Given the description of an element on the screen output the (x, y) to click on. 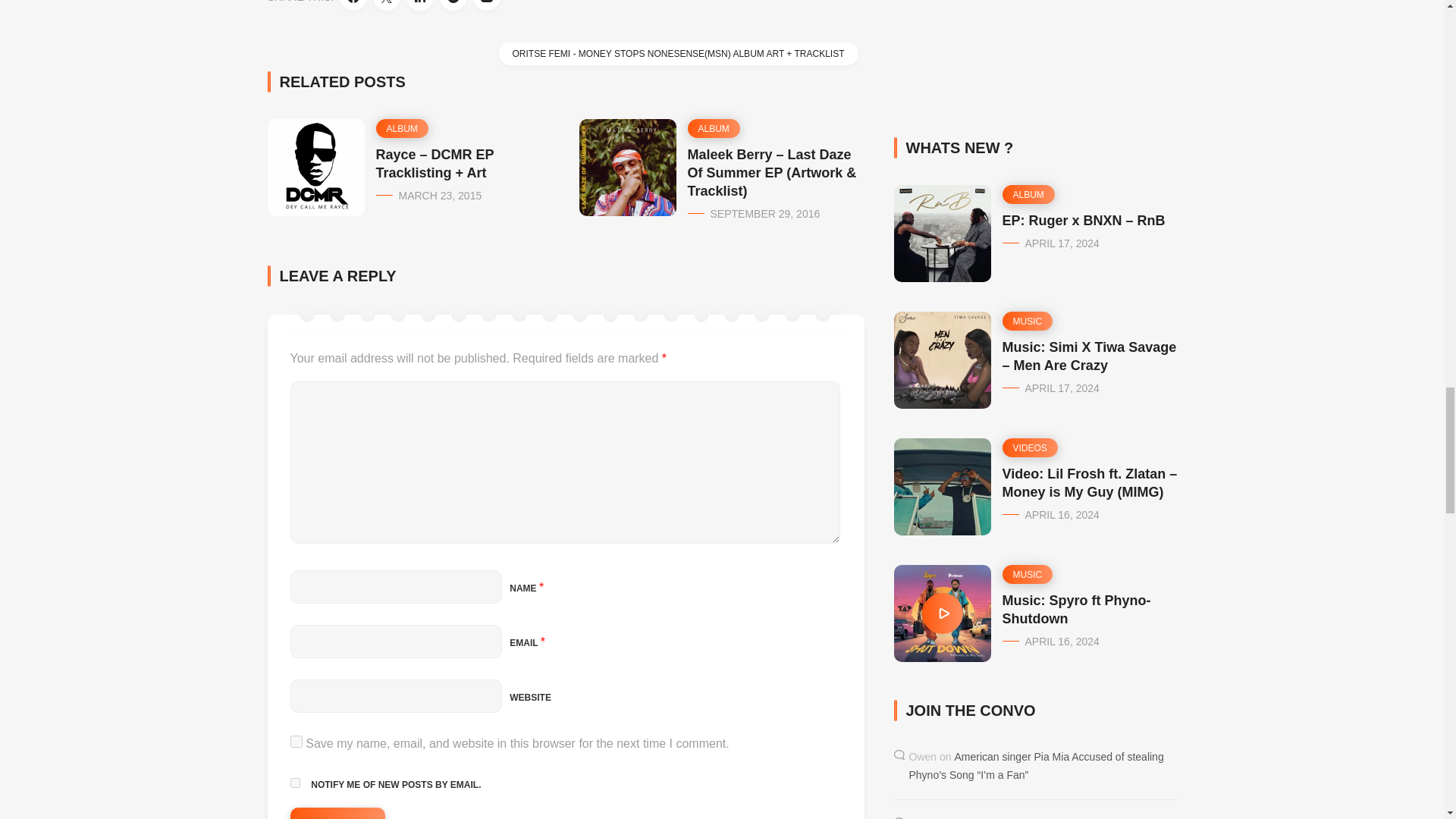
Share On Facebook (352, 5)
Share On Twitter (386, 5)
Submit (337, 813)
yes (295, 741)
Share On Reddit (453, 5)
subscribe (294, 782)
Share On LinkedIn (419, 5)
Share via Email (486, 5)
